Given the description of an element on the screen output the (x, y) to click on. 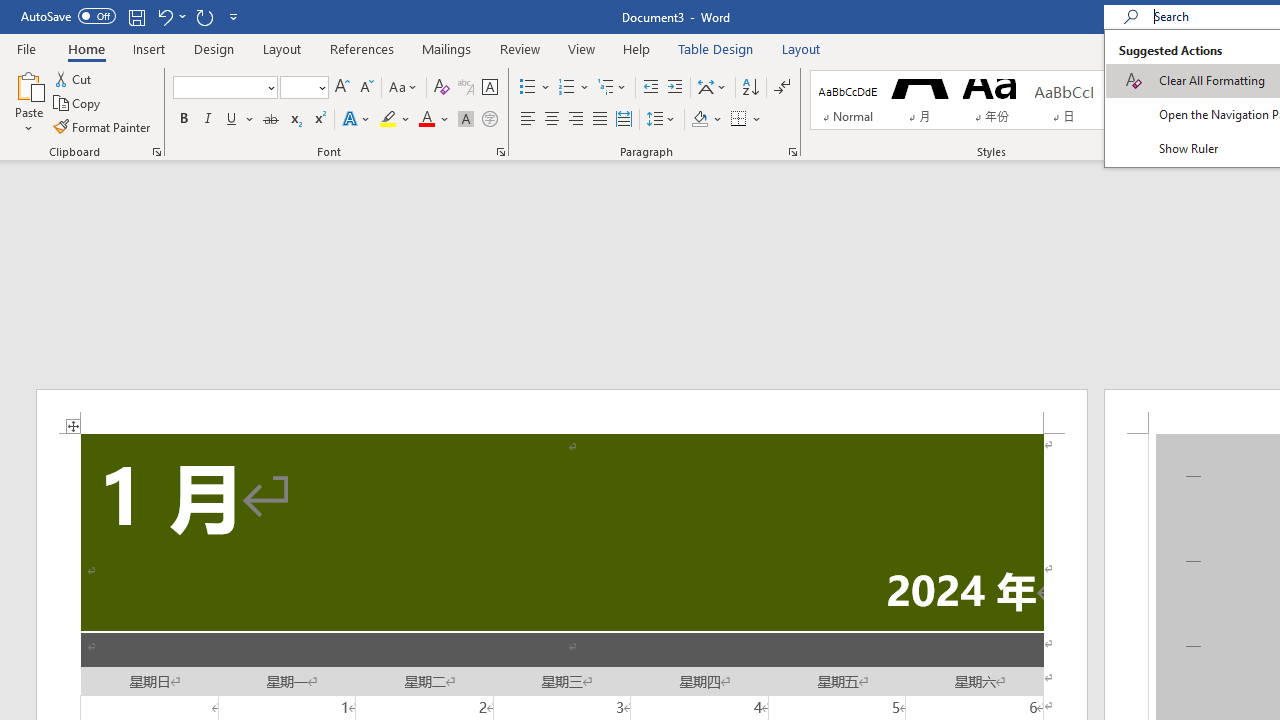
Clear Formatting (442, 87)
Bullets (535, 87)
Copy (78, 103)
Layout (801, 48)
AutoSave (68, 16)
Align Right (575, 119)
Header -Section 1- (561, 411)
Phonetic Guide... (465, 87)
Italic (207, 119)
Help (637, 48)
Multilevel List (613, 87)
Review (520, 48)
Underline (232, 119)
Row Down (1179, 100)
Enclose Characters... (489, 119)
